Given the description of an element on the screen output the (x, y) to click on. 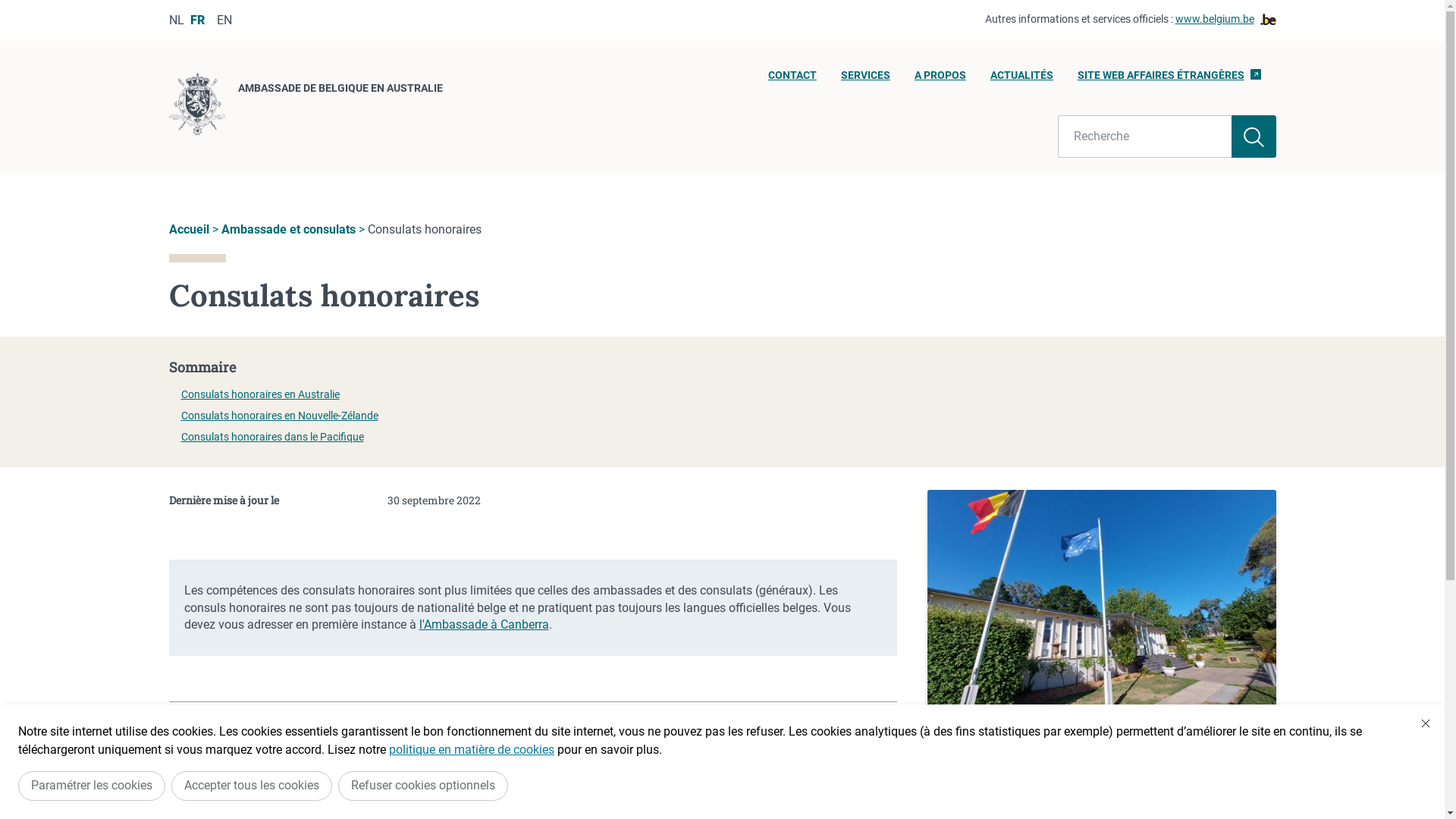
Ambassade et consulats Element type: text (288, 229)
CONTACT Element type: text (792, 79)
SERVICES Element type: text (865, 79)
FR Element type: text (196, 19)
Refuser cookies optionnels Element type: text (423, 785)
Consulats honoraires en Australie Element type: text (777, 749)
Accueil Element type: text (188, 229)
A PROPOS Element type: text (940, 79)
Consulats honoraires en Australie Element type: text (259, 394)
Filtrer Element type: text (1253, 136)
NL Element type: text (175, 19)
Consulats honoraires dans le Pacifique Element type: text (271, 436)
Accepter tous les cookies Element type: text (251, 785)
Fermer Element type: hover (1425, 723)
Recherche Element type: hover (1144, 136)
AMBASSADE DE BELGIQUE EN AUSTRALIE Element type: text (305, 106)
www.belgium.be Element type: text (1225, 19)
Skip to main content Element type: text (7, 4)
EN Element type: text (224, 19)
